Given the description of an element on the screen output the (x, y) to click on. 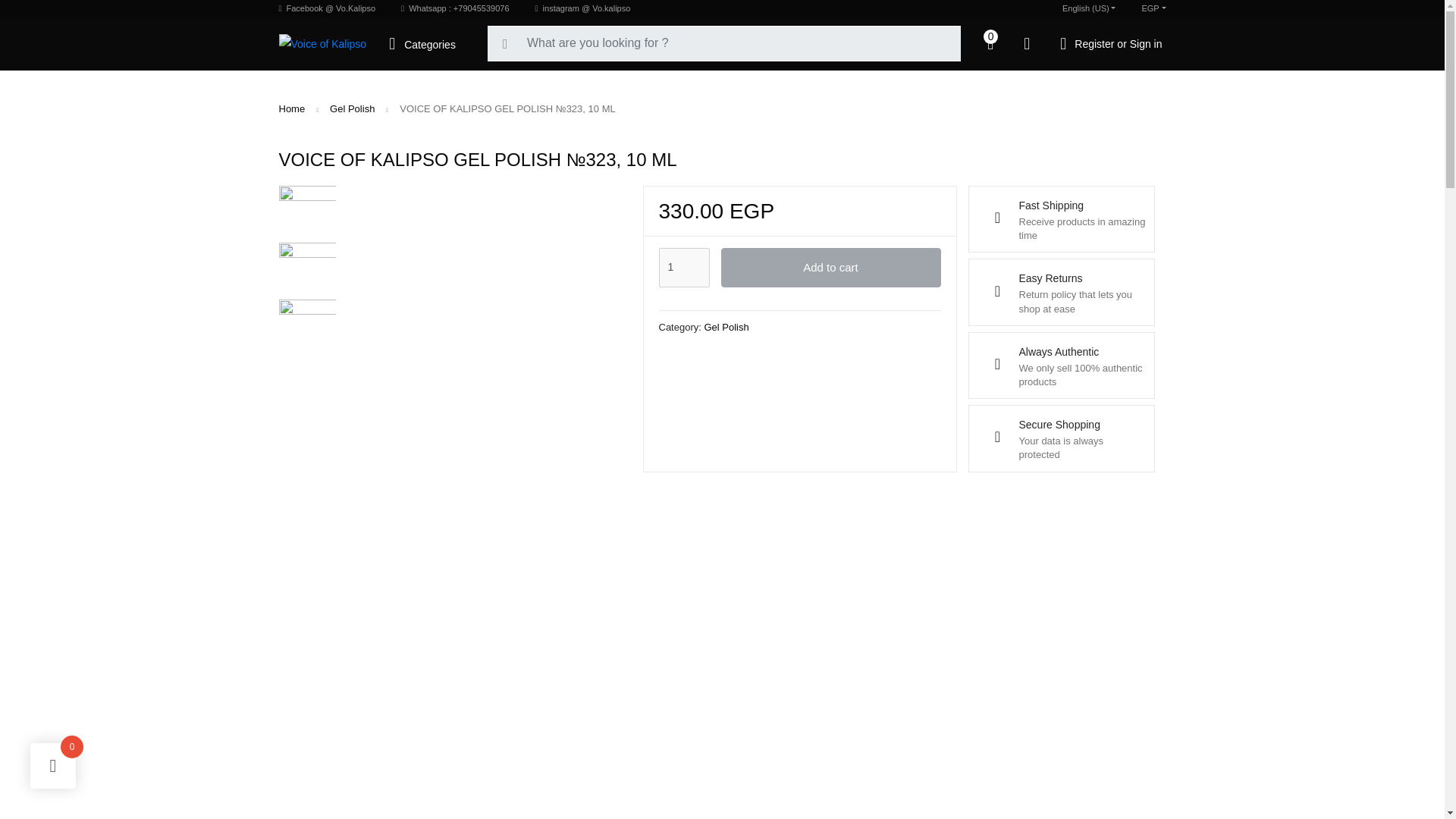
EGP (1152, 8)
3236265149619 (307, 213)
Search (17, 12)
Register or Sign in (1110, 42)
Categories (426, 42)
1 (683, 267)
